Given the description of an element on the screen output the (x, y) to click on. 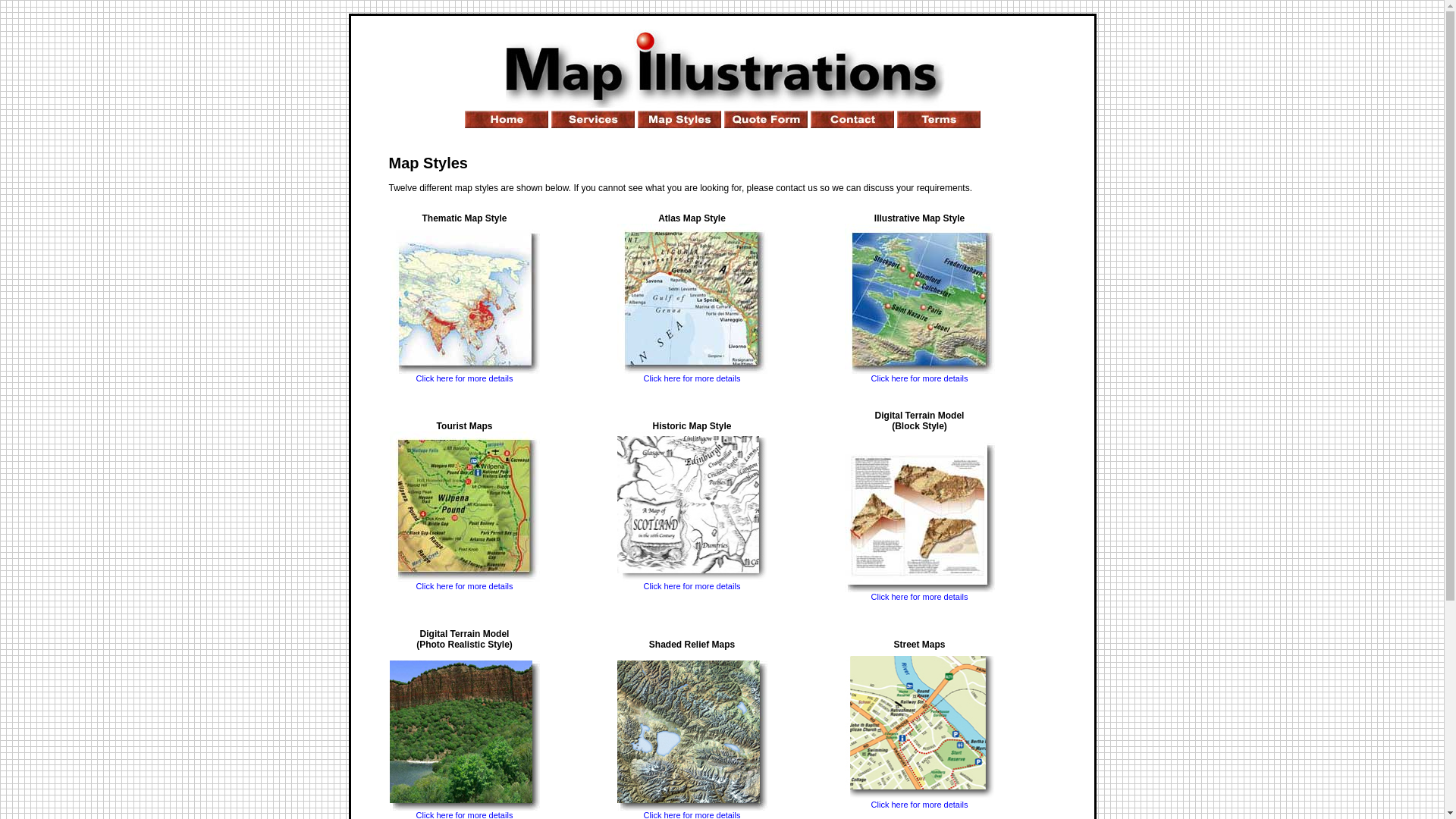
Click here for more details Element type: text (464, 582)
Click here for more details Element type: text (919, 800)
Click here for more details Element type: text (464, 374)
Click here for more details Element type: text (919, 374)
Click here for more details Element type: text (919, 592)
Click here for more details Element type: text (692, 374)
Click here for more details Element type: text (692, 582)
